Given the description of an element on the screen output the (x, y) to click on. 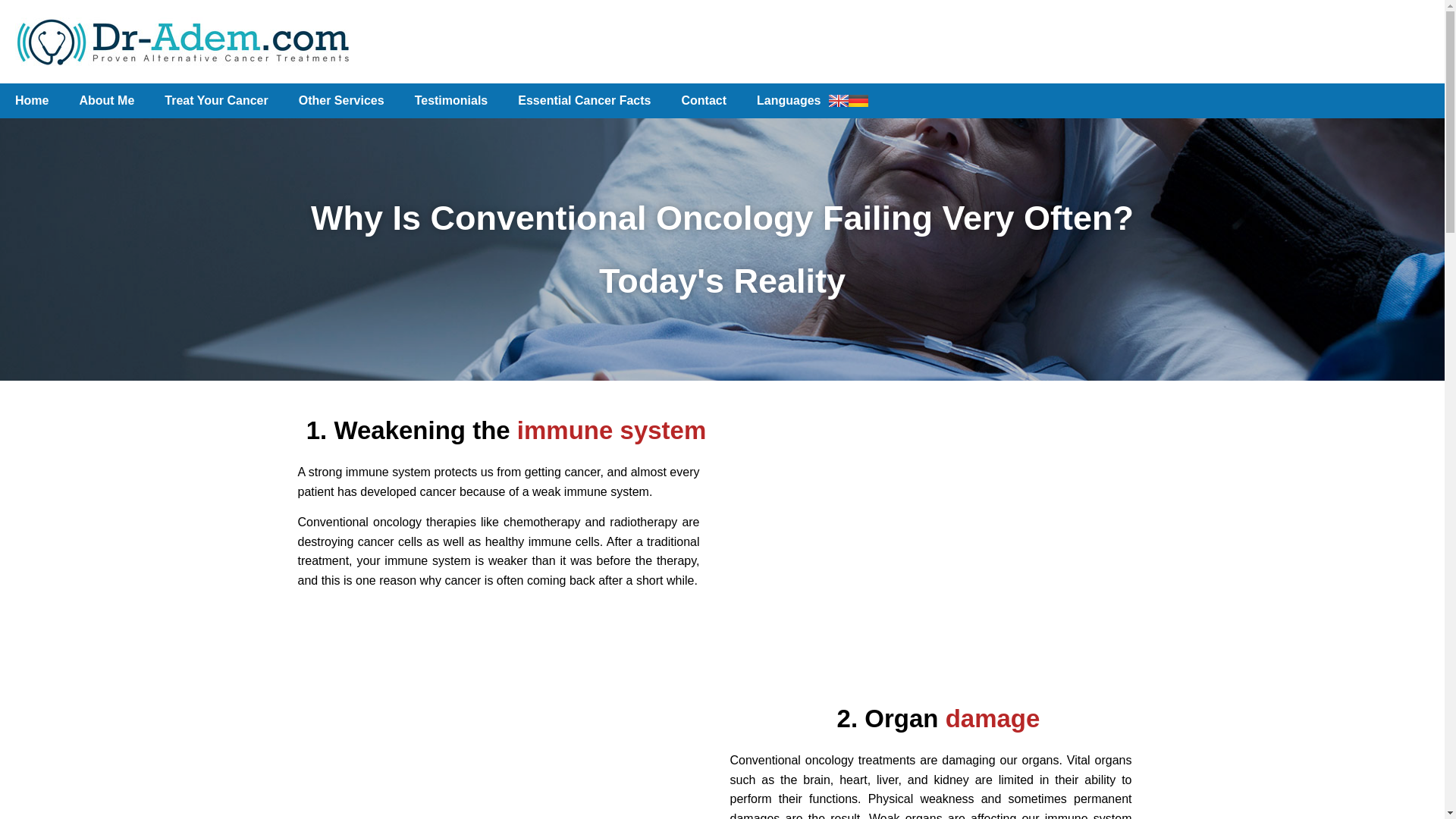
Languages (811, 100)
Treat Your Cancer (215, 100)
Dr. Adem Logo (182, 41)
Home (32, 100)
Other Services (340, 100)
About Me (106, 100)
Contact (703, 100)
Essential Cancer Facts (583, 100)
Testimonials (450, 100)
